Given the description of an element on the screen output the (x, y) to click on. 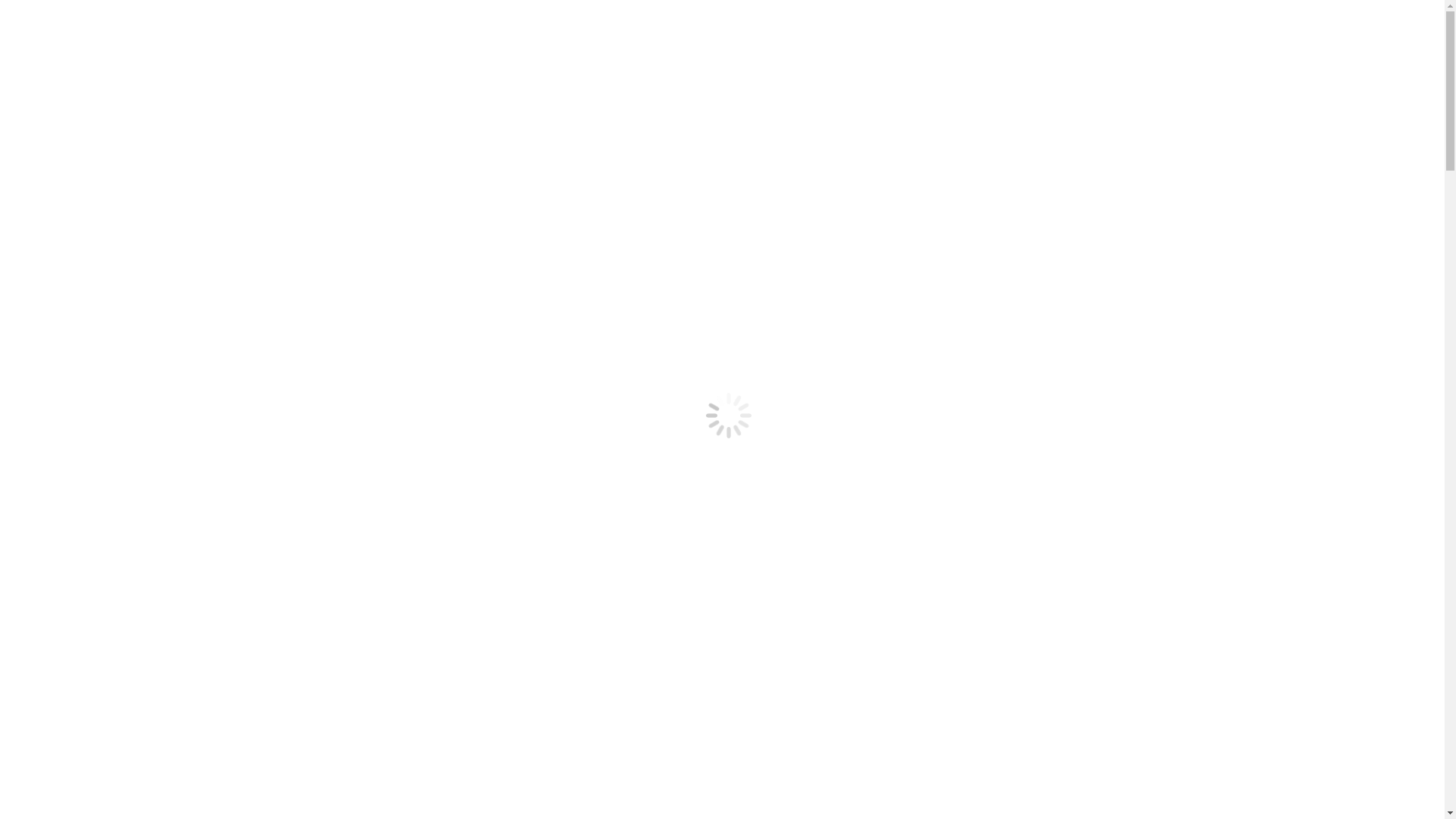
Funding and Opportunities Element type: text (131, 266)
Creating New Paddock Sentinels Element type: text (177, 375)
News and Opportunities Element type: text (95, 633)
News Element type: text (80, 674)
Landcare Groups Element type: text (108, 715)
News and Opportunities Element type: text (95, 238)
Current Projects Element type: text (105, 742)
Our Committee Element type: text (104, 197)
Supporting Small Landholders Element type: text (140, 484)
Home Element type: text (50, 551)
Landcare-led Resilience Project Element type: text (174, 388)
Equipment Element type: text (92, 498)
NSW Landcare Program Element type: text (156, 796)
Newsletter Element type: text (92, 687)
Saving Swift Parrots Element type: text (147, 429)
About MLi Element type: text (93, 578)
Skip to content Element type: text (42, 12)
About MLi Element type: text (93, 184)
Landcare Groups Element type: text (78, 701)
Events Element type: text (83, 646)
Landcare Groups Element type: text (108, 320)
Creating New Paddock Sentinels Element type: text (177, 769)
Partnering in Private Land Conservation Element type: text (195, 810)
Our Committee Element type: text (104, 592)
Funding and Opportunities Element type: text (131, 660)
Our Staff Element type: text (89, 605)
Contact Us Element type: text (63, 511)
Join Landcare! Element type: text (102, 619)
Landcare-led Resilience Project Element type: text (174, 783)
Current Projects Element type: text (105, 348)
NSW Landcare Program Element type: text (156, 402)
About Element type: text (51, 564)
Projects Element type: text (55, 334)
News Element type: text (80, 279)
Join Landcare! Element type: text (102, 225)
Resources Element type: text (61, 457)
Our Staff Element type: text (89, 211)
Home Element type: text (50, 156)
Partnering in Private Land Conservation Element type: text (195, 416)
About Element type: text (51, 170)
Completed Projects Element type: text (114, 443)
Landcare Groups Element type: text (78, 307)
Connecting young people with nature Element type: text (188, 755)
Publications & Resources Element type: text (128, 470)
Newsletter Element type: text (92, 293)
Projects Element type: text (55, 728)
Connecting young people with nature Element type: text (188, 361)
Contact Us Element type: text (93, 525)
Events Element type: text (83, 252)
